Given the description of an element on the screen output the (x, y) to click on. 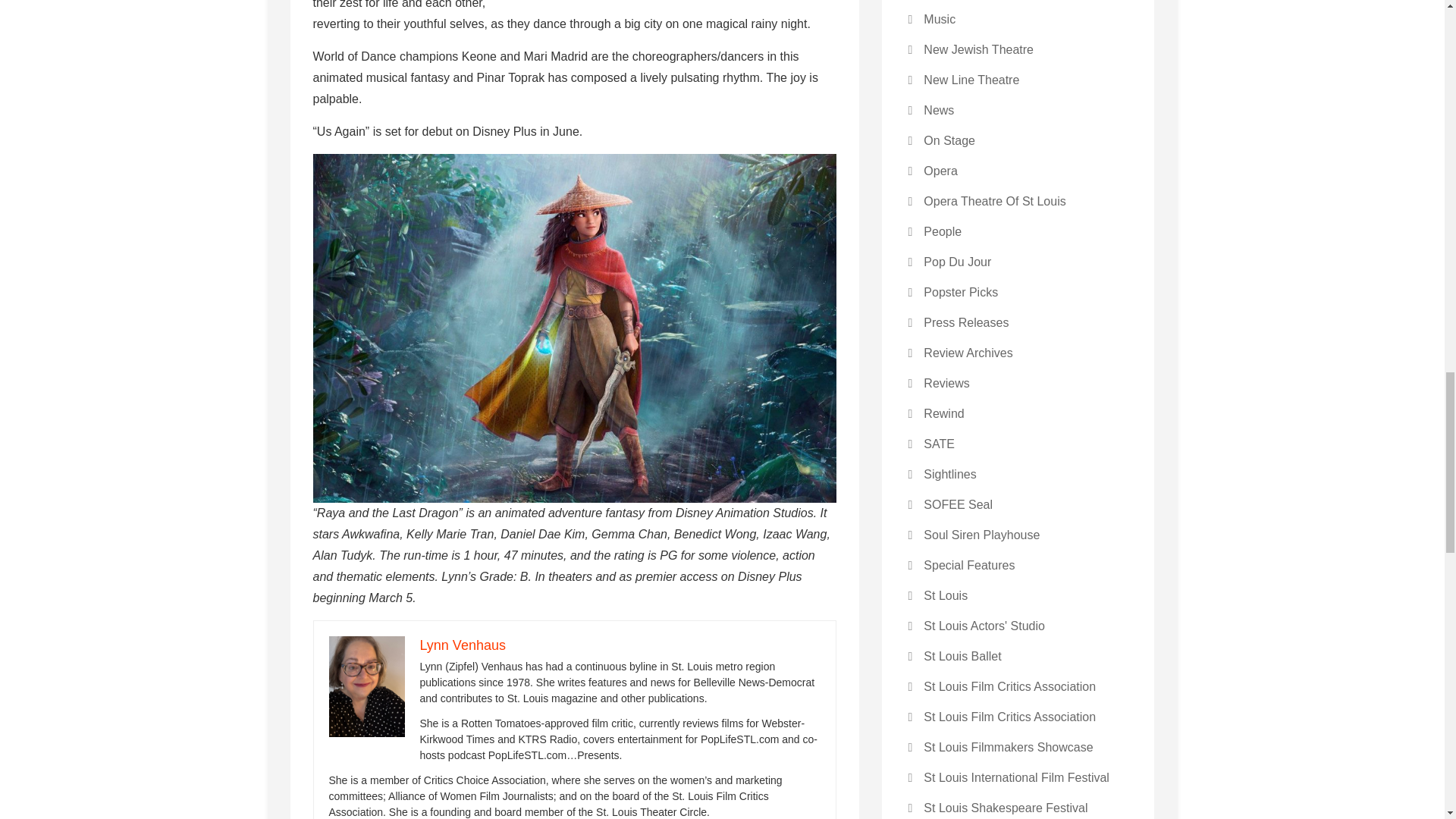
Lynn Venhaus (462, 645)
